Given the description of an element on the screen output the (x, y) to click on. 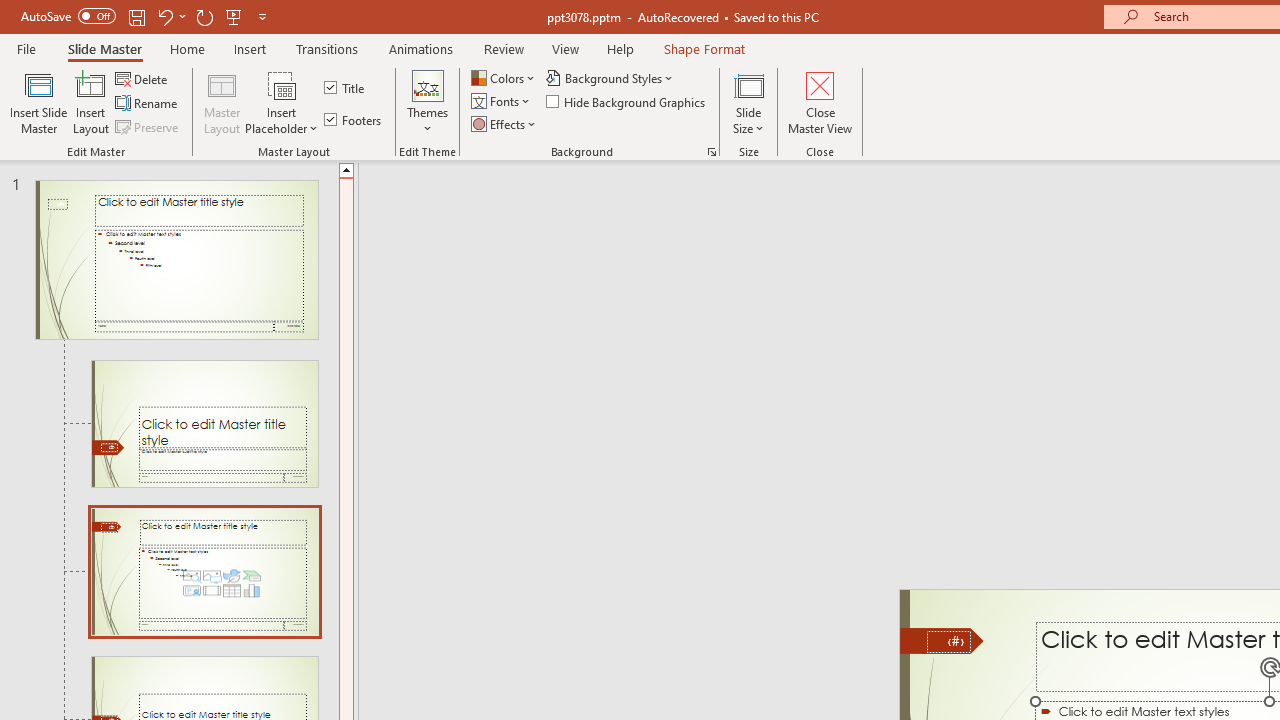
Insert Layout (91, 102)
Insert Slide Master (38, 102)
Effects (505, 124)
Format Background... (711, 151)
Hide Background Graphics (626, 101)
Slide Master (104, 48)
Slide Wisp Slide Master: used by slide(s) 1 (176, 259)
Slide Number (948, 641)
